Given the description of an element on the screen output the (x, y) to click on. 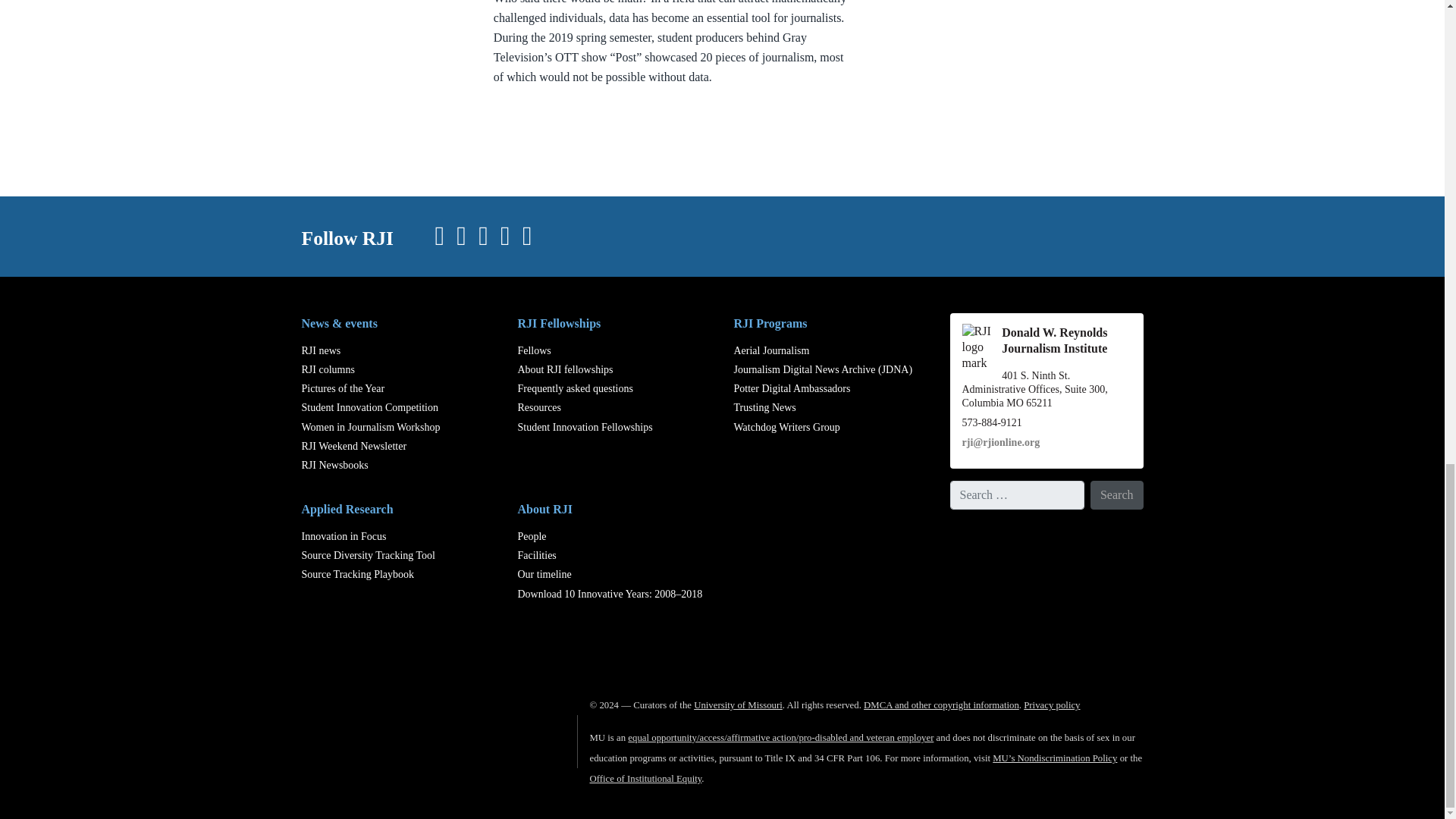
Search (1116, 494)
Search (1116, 494)
